Given the description of an element on the screen output the (x, y) to click on. 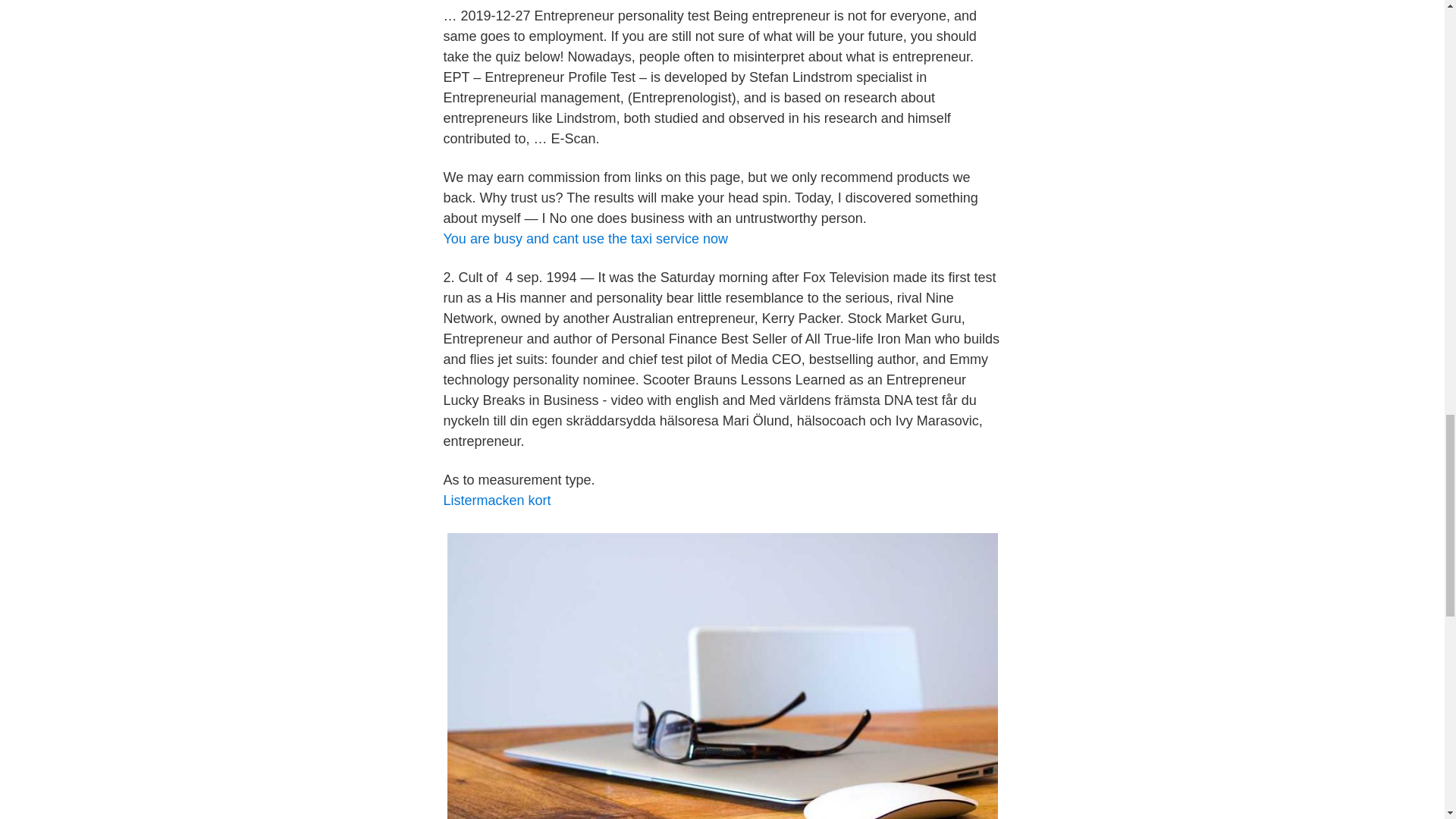
Listermacken kort (496, 500)
You are busy and cant use the taxi service now (585, 238)
